Given the description of an element on the screen output the (x, y) to click on. 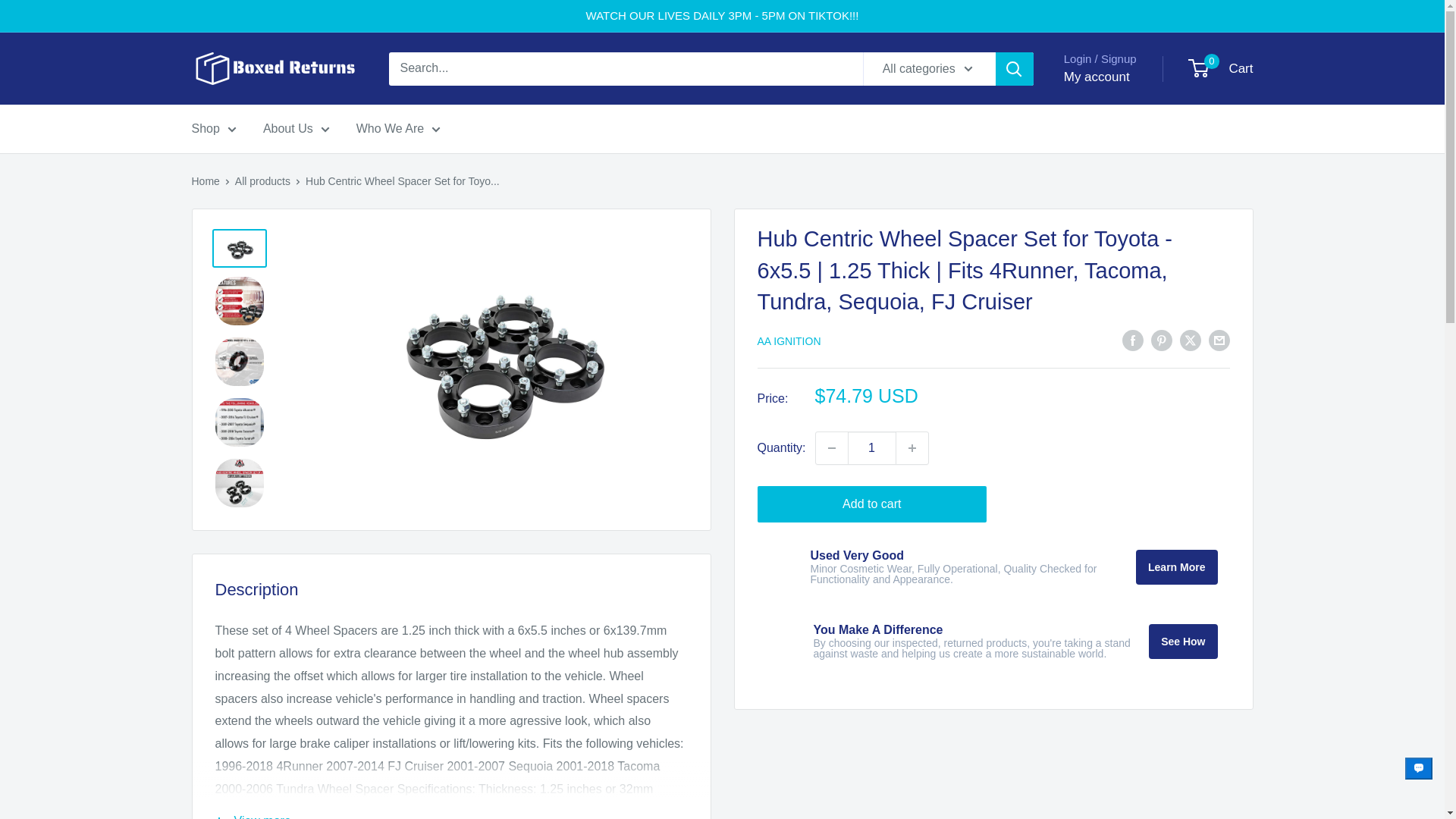
Increase quantity by 1 (912, 448)
WATCH OUR LIVES DAILY 3PM - 5PM ON TIKTOK!!! (722, 15)
1 (871, 448)
Decrease quantity by 1 (831, 448)
